Given the description of an element on the screen output the (x, y) to click on. 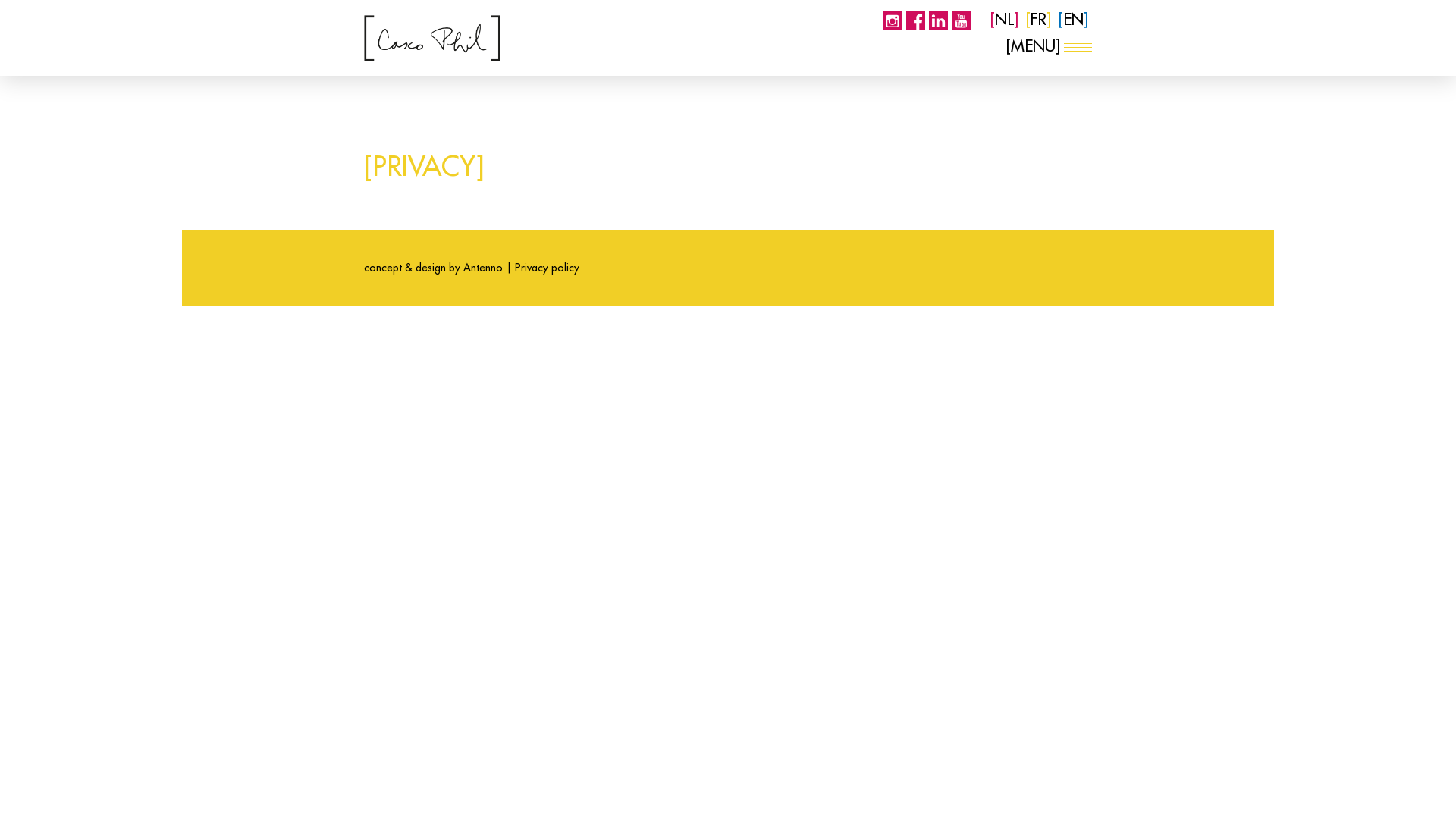
Privacy policy Element type: text (546, 267)
[FR] Element type: text (1038, 20)
[EN] Element type: text (1073, 20)
[NL] Element type: text (1004, 20)
